Given the description of an element on the screen output the (x, y) to click on. 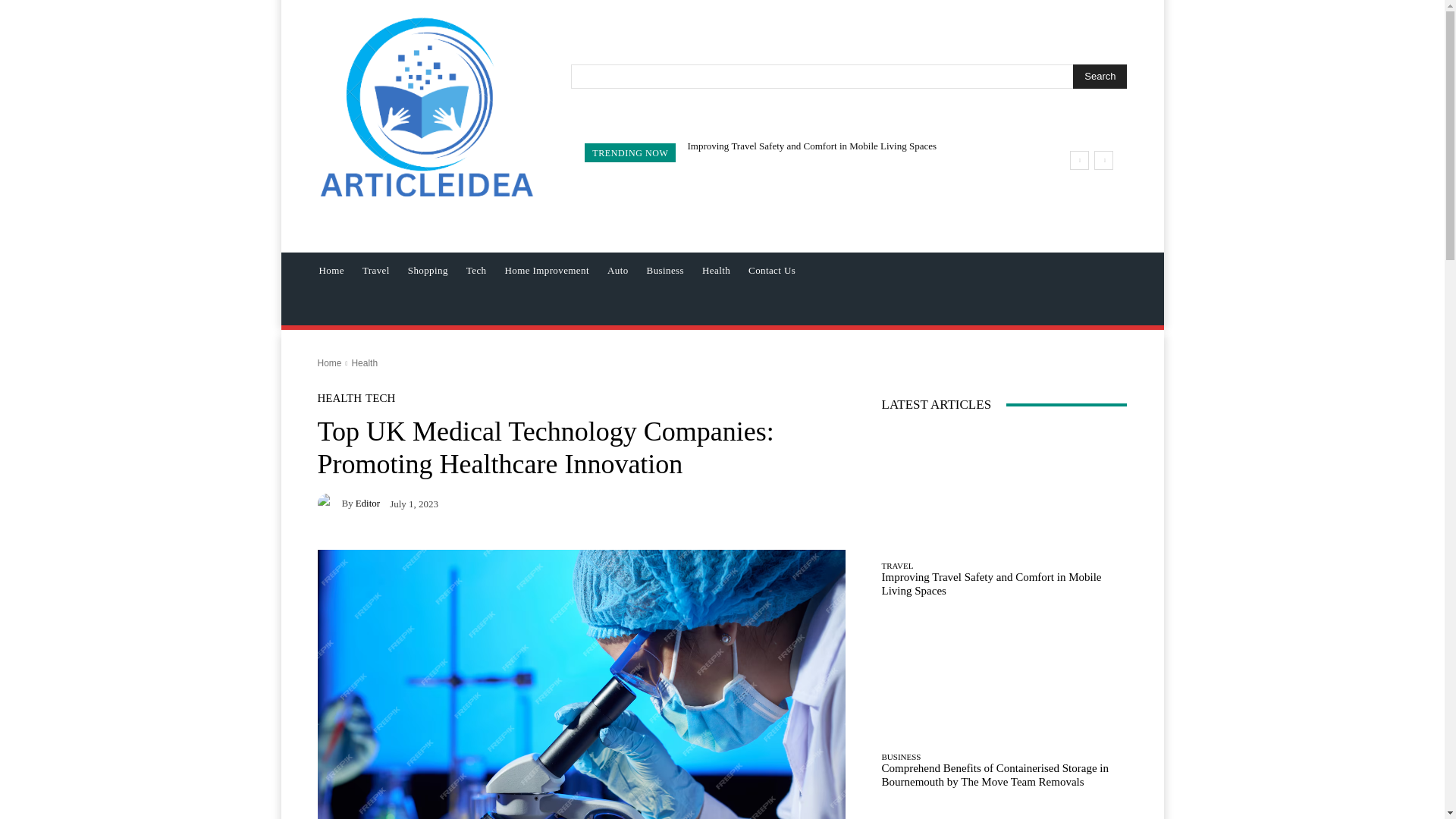
View all posts in Health (363, 362)
Shopping (427, 270)
Editor (328, 503)
Home Improvement (545, 270)
Tech (476, 270)
Travel (375, 270)
Search (1099, 76)
Improving Travel Safety and Comfort in Mobile Living Spaces (811, 145)
Business (665, 270)
Contact Us (772, 270)
Health (716, 270)
Auto (617, 270)
Home (330, 270)
Improving Travel Safety and Comfort in Mobile Living Spaces (811, 145)
